Given the description of an element on the screen output the (x, y) to click on. 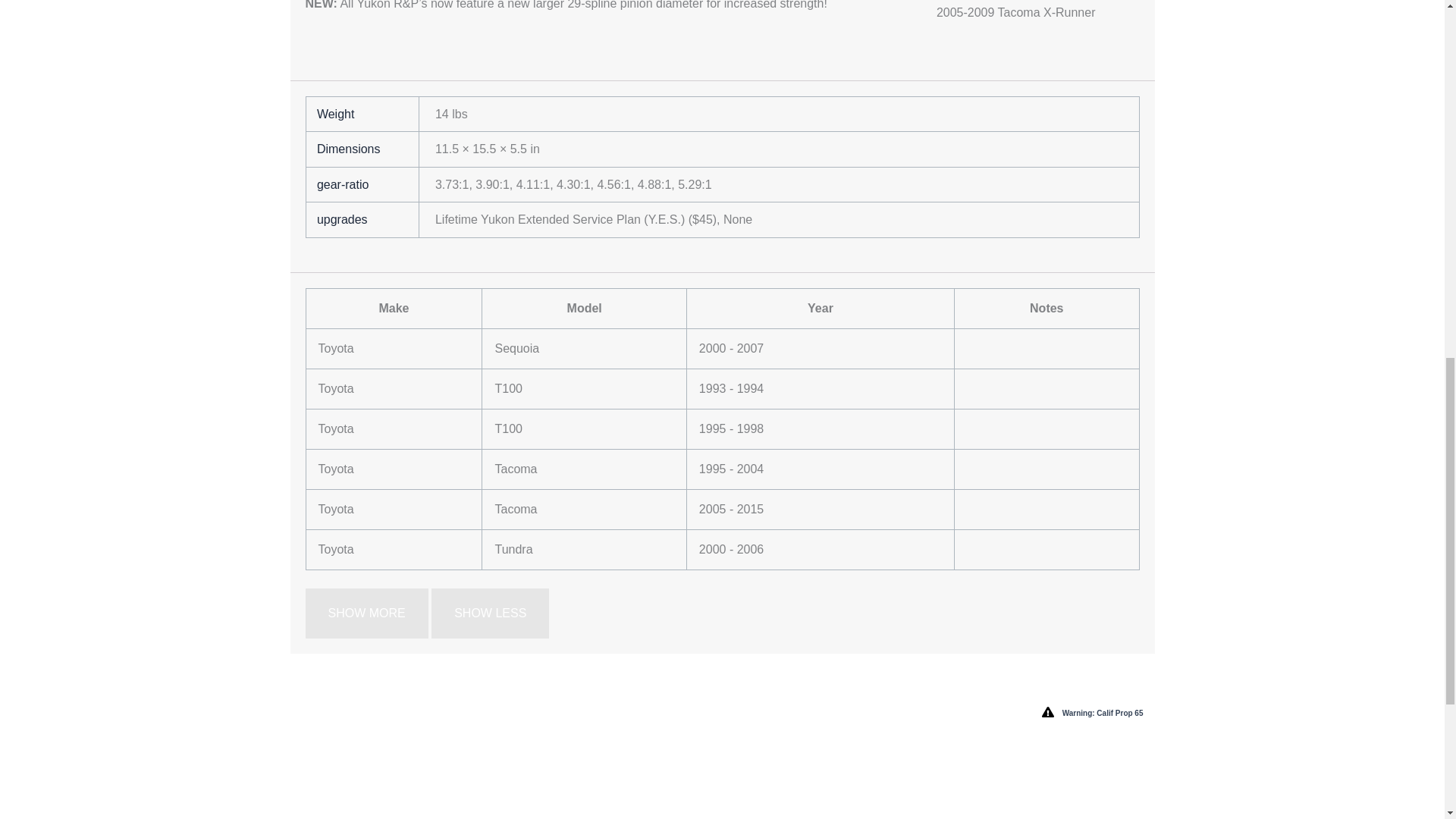
SHOW LESS (489, 613)
SHOW MORE (366, 613)
